Given the description of an element on the screen output the (x, y) to click on. 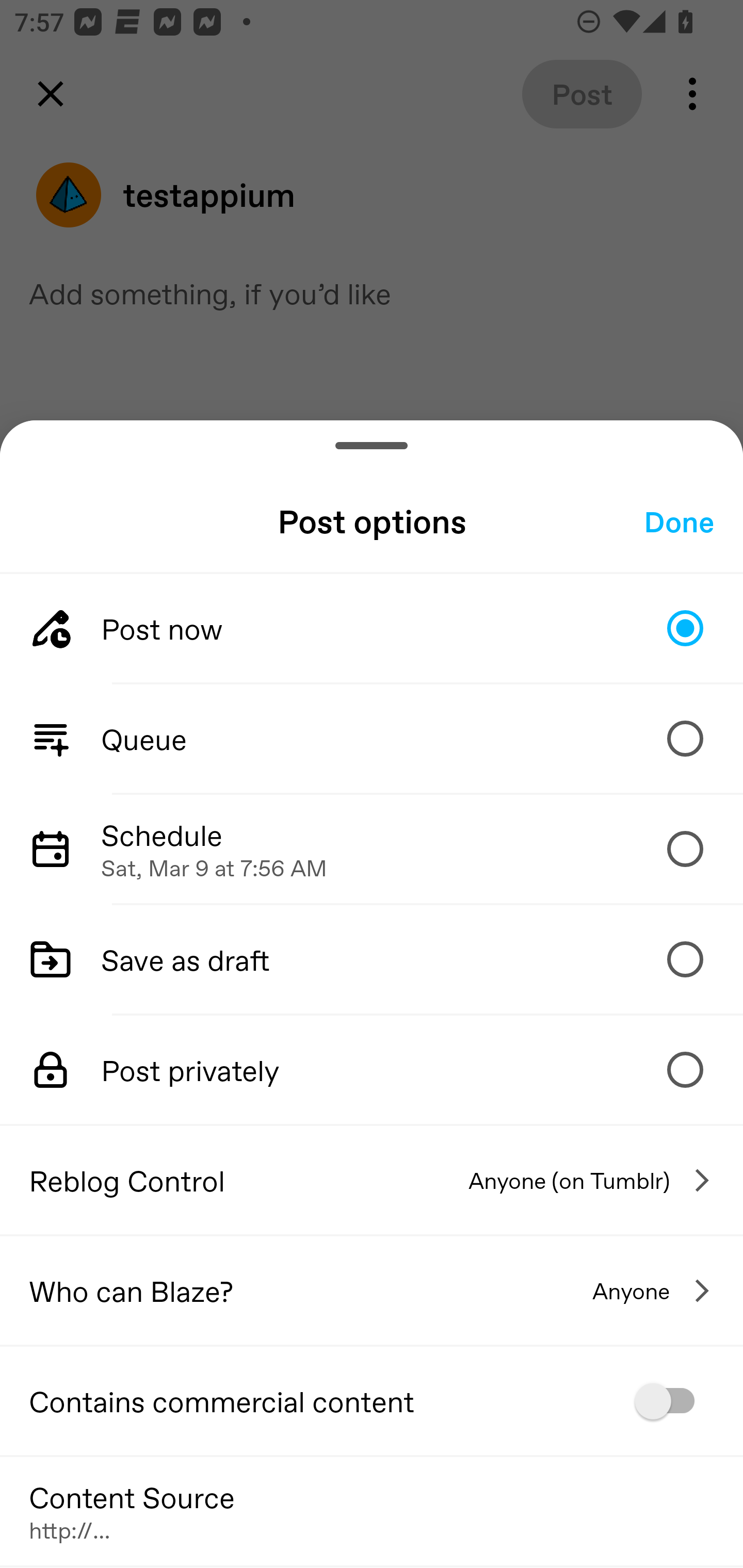
Done (679, 521)
Post now (371, 627)
Queue (371, 739)
Schedule Sat, Mar 9 at 7:56 AM (371, 848)
Save as draft (371, 958)
Post privately (371, 1070)
Reblog Control Anyone (on Tumblr) (371, 1179)
Who can Blaze? Anyone (371, 1290)
Contains commercial content (371, 1400)
Content Source http://… (371, 1510)
